Given the description of an element on the screen output the (x, y) to click on. 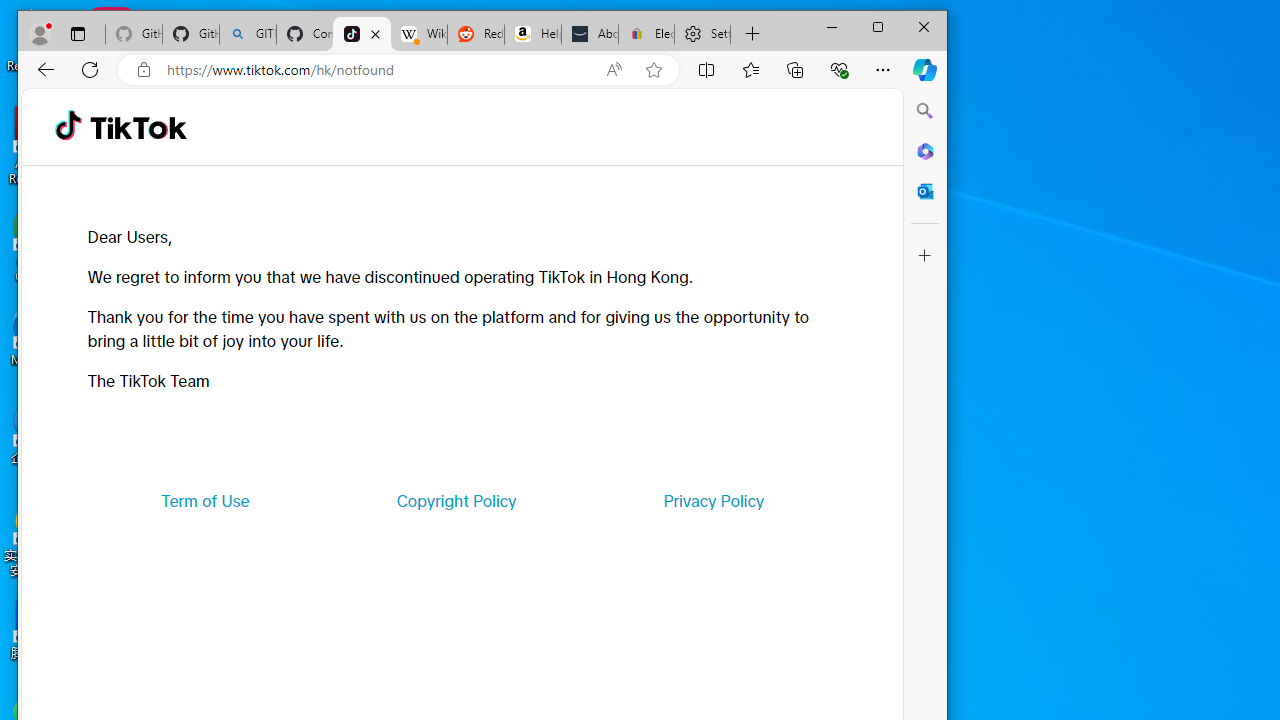
Copyright Policy (456, 500)
TikTok (362, 34)
Wikipedia, the free encyclopedia (418, 34)
